Given the description of an element on the screen output the (x, y) to click on. 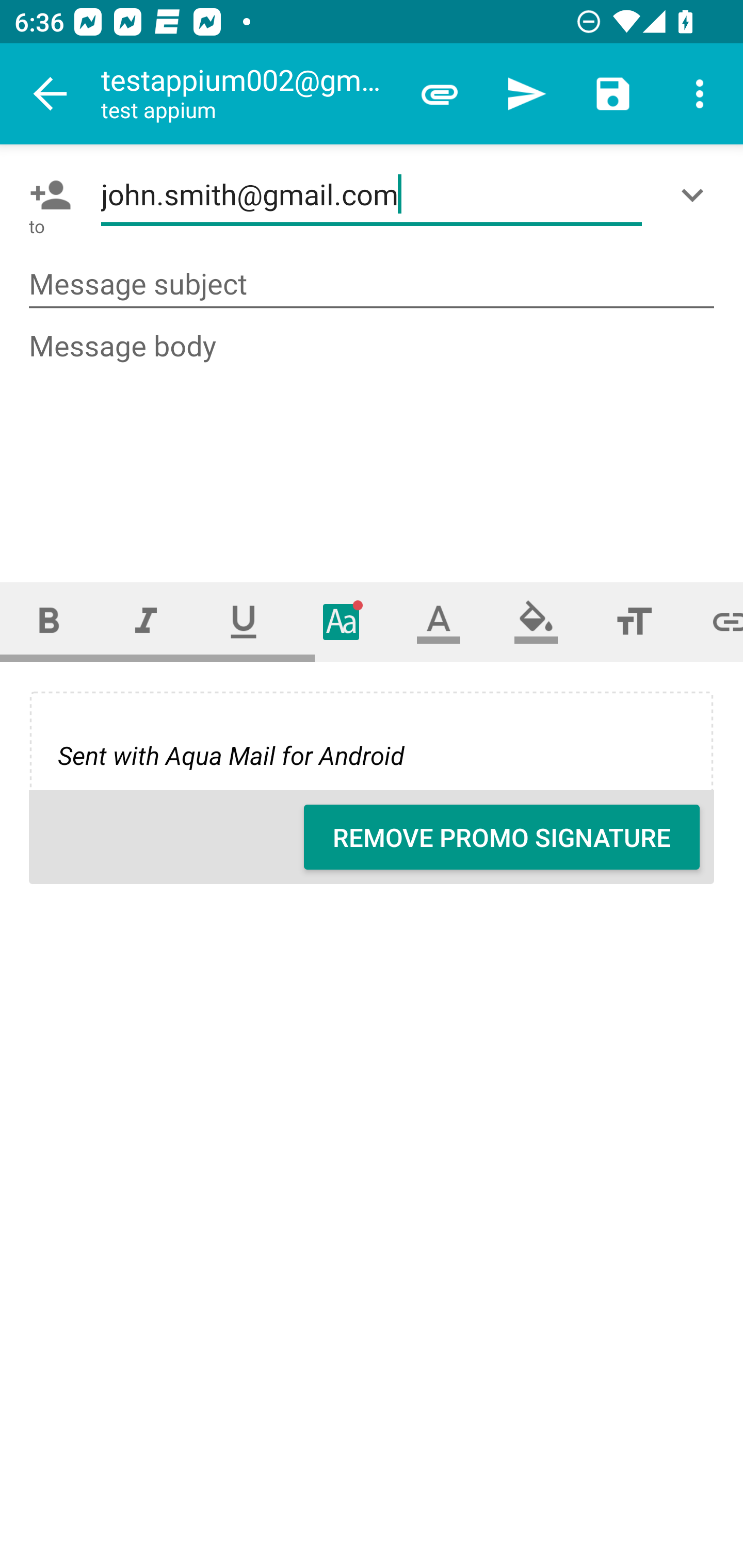
Navigate up (50, 93)
testappium002@gmail.com test appium (248, 93)
Attach (439, 93)
Send (525, 93)
Save (612, 93)
More options (699, 93)
Pick contact: To (46, 195)
Show/Add CC/BCC (696, 195)
john.smith@gmail.com (371, 195)
Message subject (371, 284)
Message body (372, 438)
Bold (48, 621)
Italic (145, 621)
Underline (243, 621)
Typeface (font) (341, 621)
Text color (438, 621)
Fill color (536, 621)
Font size (633, 621)
REMOVE PROMO SIGNATURE (501, 837)
